Given the description of an element on the screen output the (x, y) to click on. 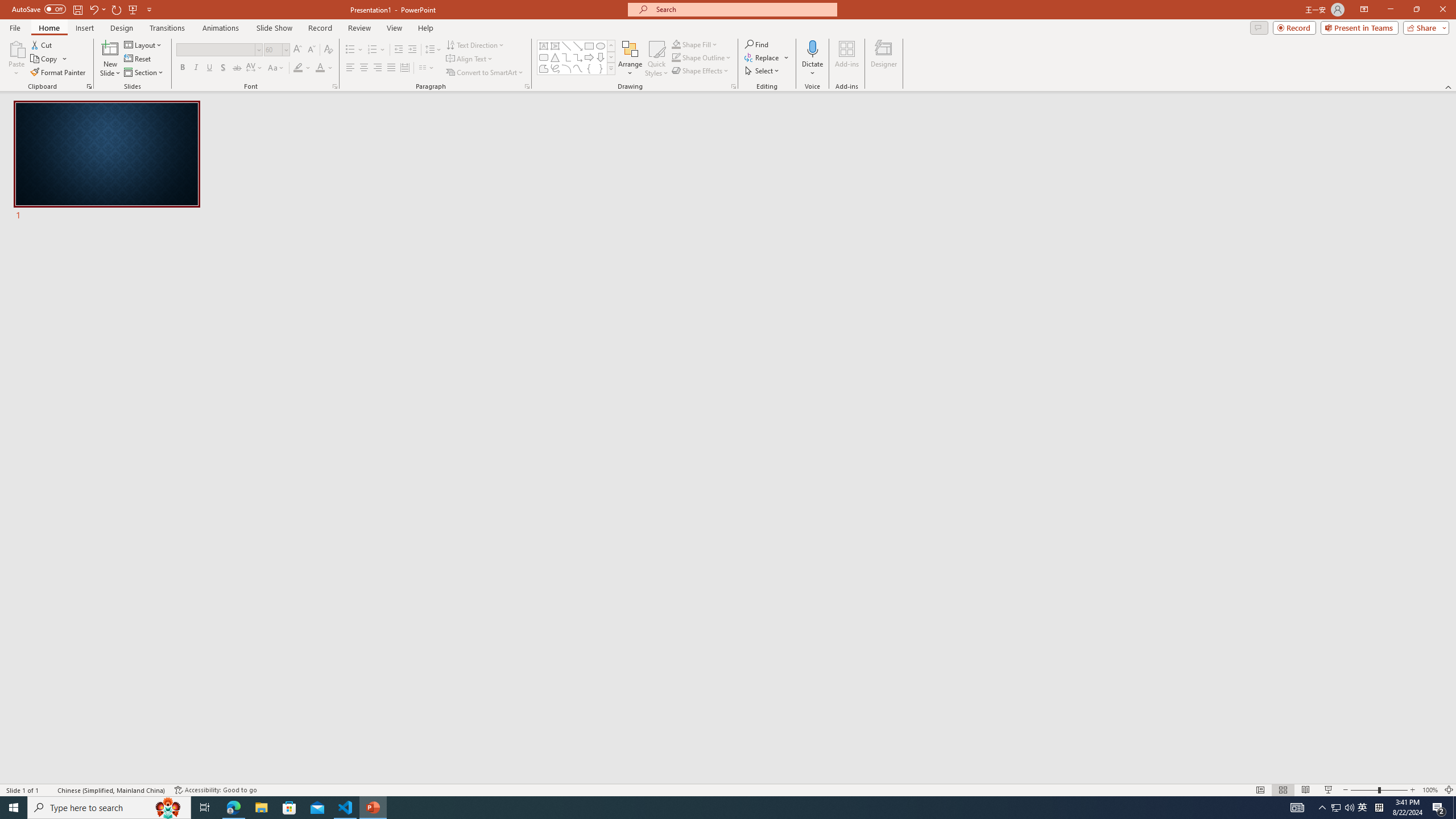
Accessibility Checker Accessibility: Good to go (216, 790)
Decrease Font Size (310, 49)
Text Highlight Color Yellow (297, 67)
Rectangle: Rounded Corners (543, 57)
Find... (756, 44)
Curve (577, 68)
Connector: Elbow (566, 57)
